Given the description of an element on the screen output the (x, y) to click on. 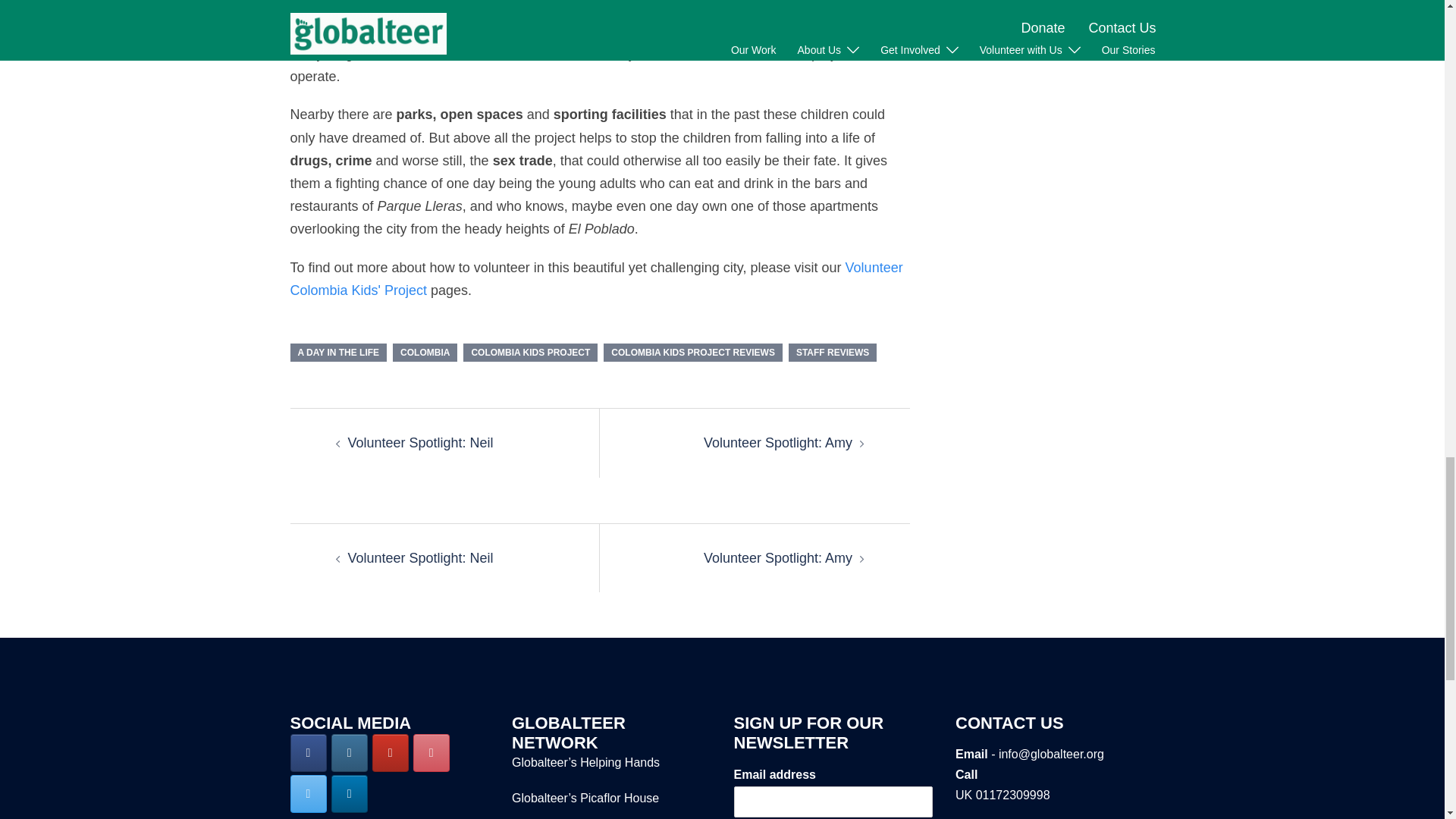
Follow us on Facebook (307, 752)
On Pinterest (431, 752)
 on Linkedin (349, 793)
 on Instagram (349, 752)
On Twitter (307, 793)
 on Youtube (390, 752)
